Given the description of an element on the screen output the (x, y) to click on. 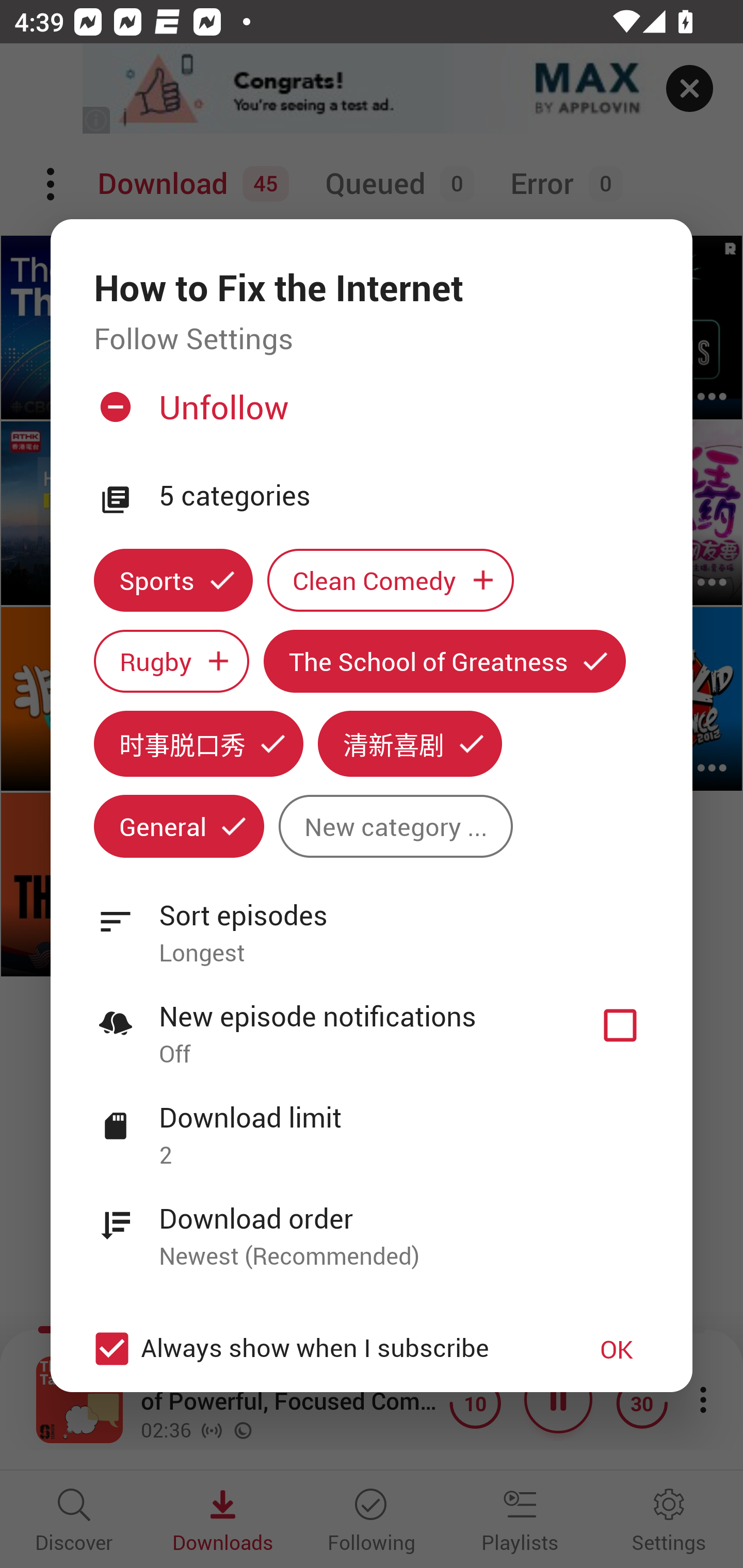
Unfollow (369, 415)
5 categories (404, 495)
Sports (172, 579)
Clean Comedy (390, 579)
Rugby (170, 661)
The School of Greatness (444, 661)
时事脱口秀 (198, 743)
清新喜剧 (410, 743)
General (178, 825)
New category ... (395, 825)
Sort episodes Longest (371, 922)
New episode notifications (620, 1025)
Download limit 2 (371, 1125)
Download order Newest (Recommended) (371, 1226)
OK (616, 1349)
Always show when I subscribe (320, 1349)
